Given the description of an element on the screen output the (x, y) to click on. 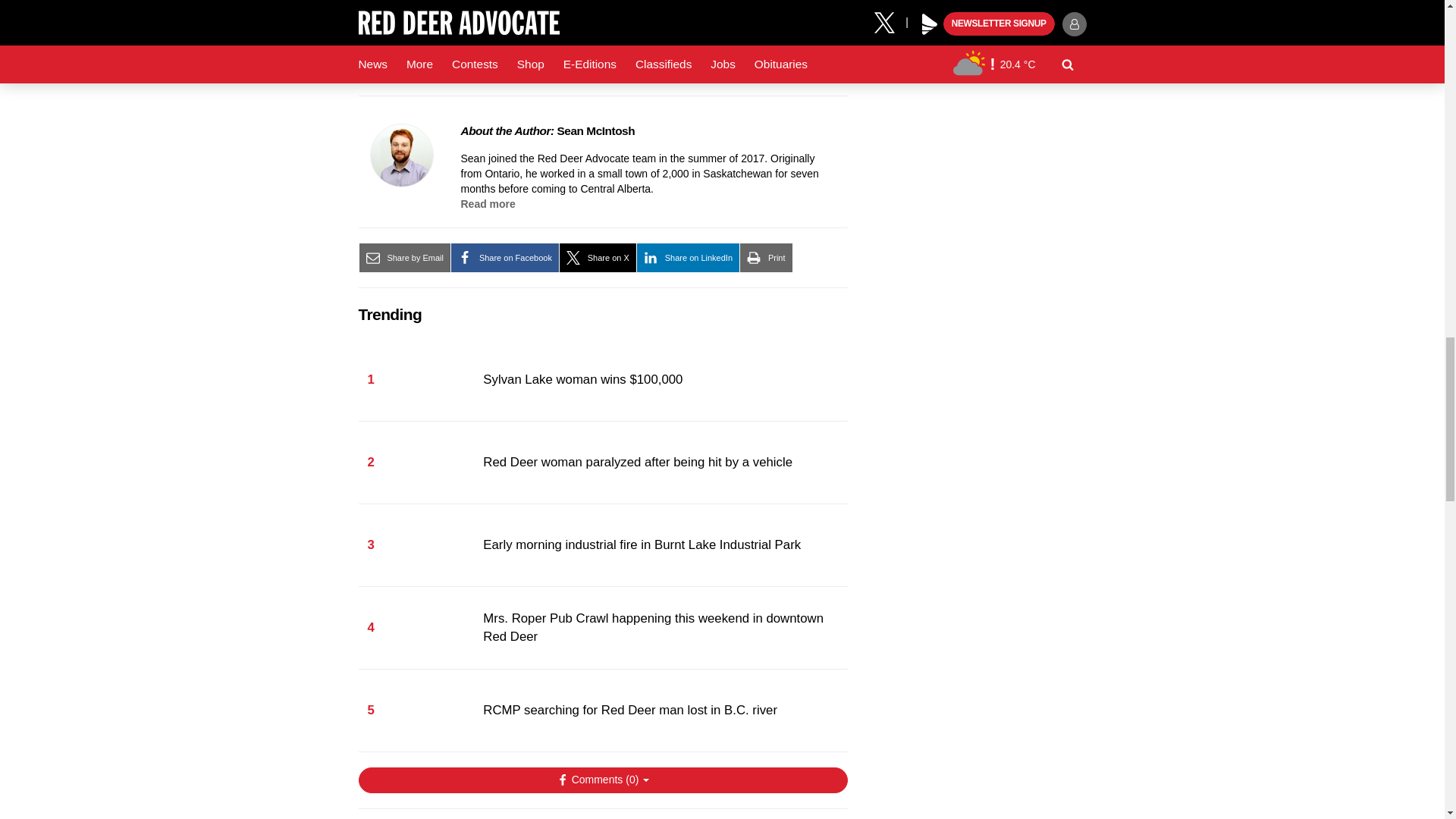
Show Comments (602, 780)
